Given the description of an element on the screen output the (x, y) to click on. 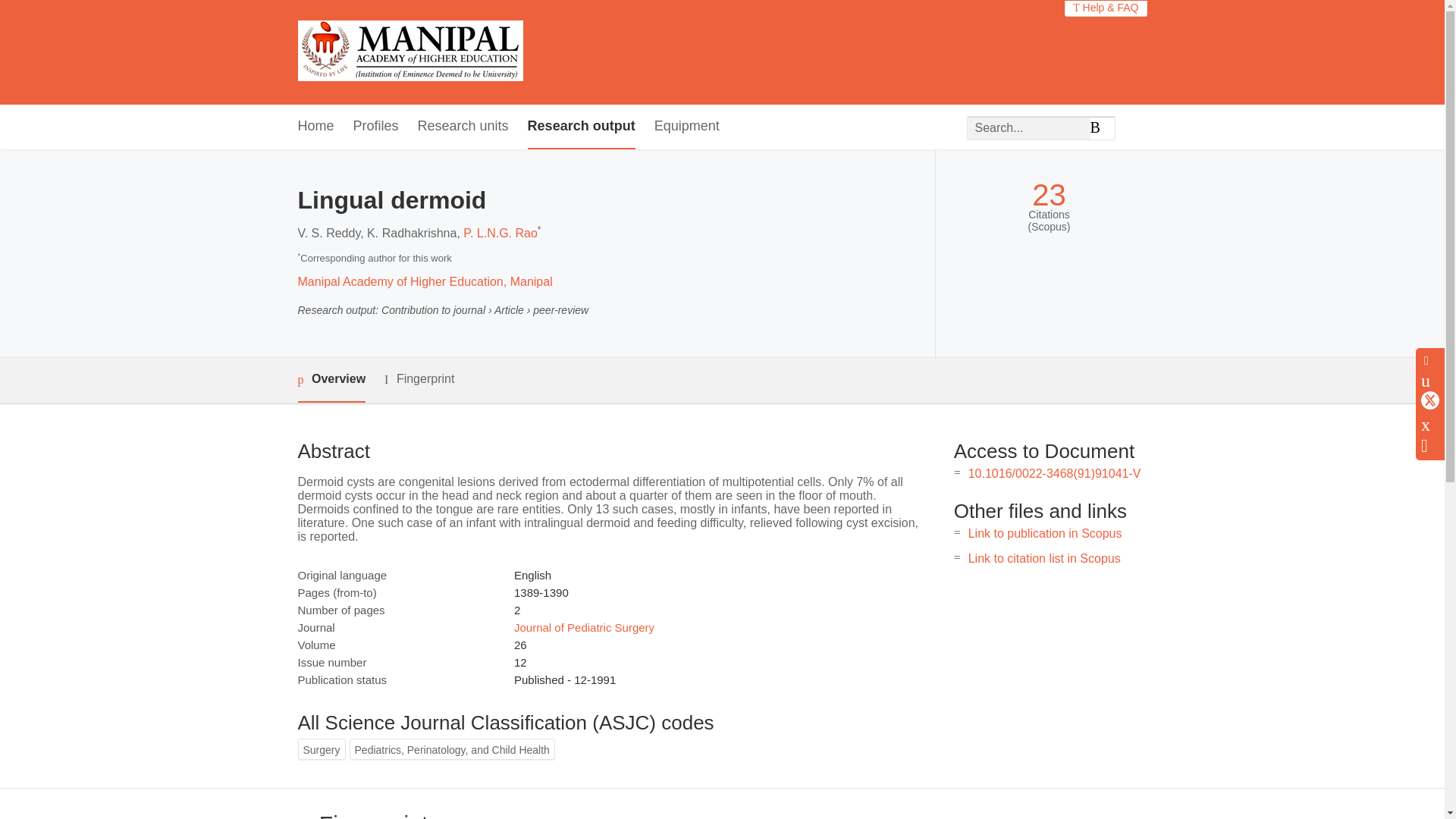
Equipment (686, 126)
Link to citation list in Scopus (1044, 558)
Manipal Academy of Higher Education, Manipal (424, 281)
Fingerprint (419, 379)
Overview (331, 379)
Profiles (375, 126)
Manipal Academy of Higher Education, Manipal, India Home (409, 52)
P. L.N.G. Rao (500, 232)
Journal of Pediatric Surgery (583, 626)
